Given the description of an element on the screen output the (x, y) to click on. 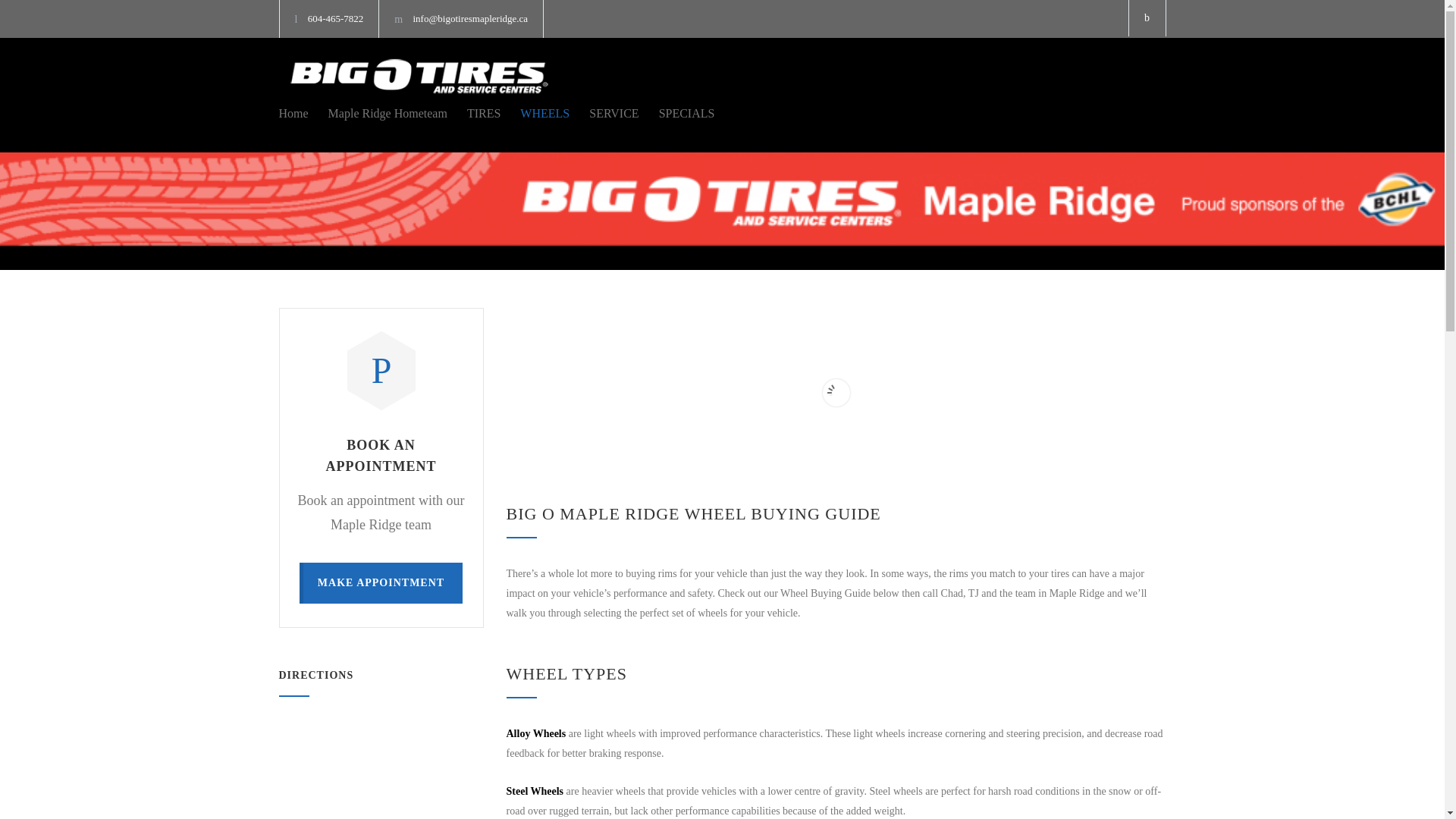
MAKE APPOINTMENT (381, 582)
TIRES (473, 113)
MAKE APPOINTMENT (381, 582)
Big O Tires Maple Ridge (419, 76)
SPECIALS (676, 113)
WHEELS (534, 113)
Maple Ridge Hometeam (377, 113)
SERVICE (604, 113)
